Given the description of an element on the screen output the (x, y) to click on. 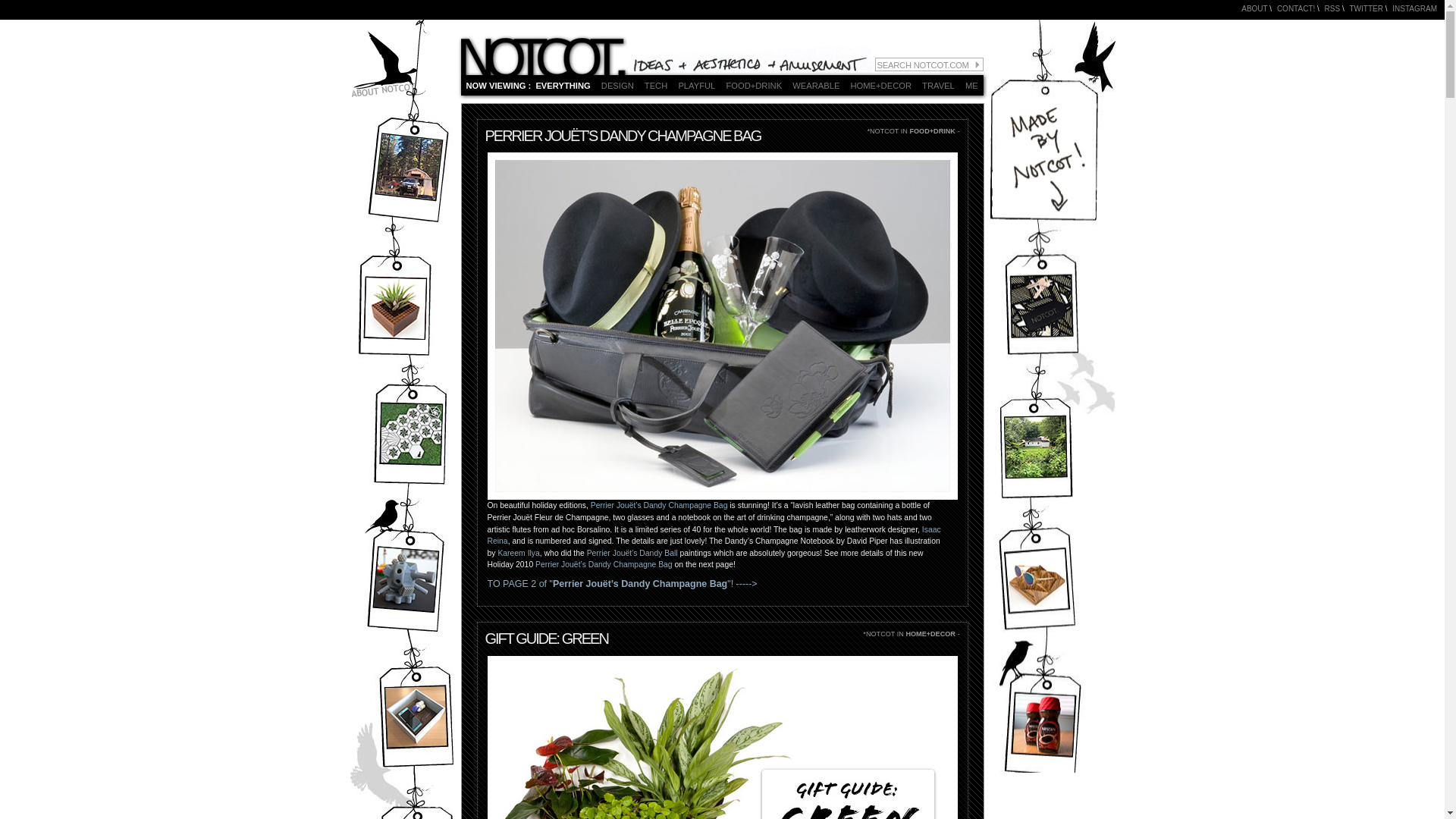
TECH (657, 85)
ABOUT (1253, 8)
search (976, 63)
CONTACT! (1295, 8)
SEARCH NOTCOT.COM (929, 64)
WEARABLE (817, 85)
EVERYTHING (563, 85)
PLAYFUL (697, 85)
RSS (1332, 8)
GIFT GUIDE: GREEN (546, 638)
Kareem Ilya (517, 552)
TRAVEL (940, 85)
ME (973, 85)
TWITTER (1366, 8)
INSTAGRAM (1414, 8)
